Given the description of an element on the screen output the (x, y) to click on. 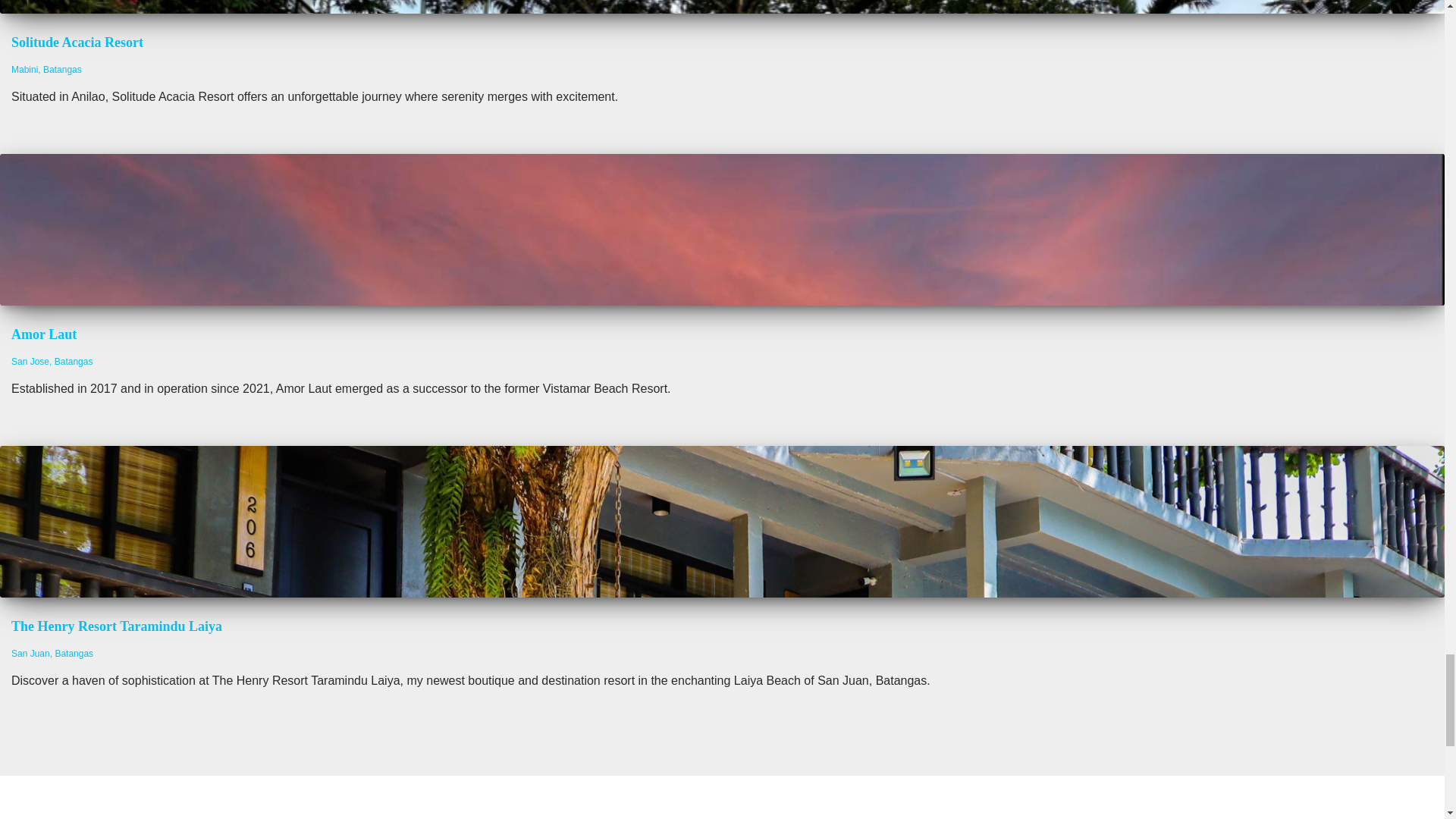
The Henry Resort Taramindu Laiya (116, 626)
Mabini, Batangas (46, 69)
Solitude Acacia Resort (76, 42)
Amor Laut (44, 334)
San Juan, Batangas (52, 653)
San Jose, Batangas (52, 361)
